Given the description of an element on the screen output the (x, y) to click on. 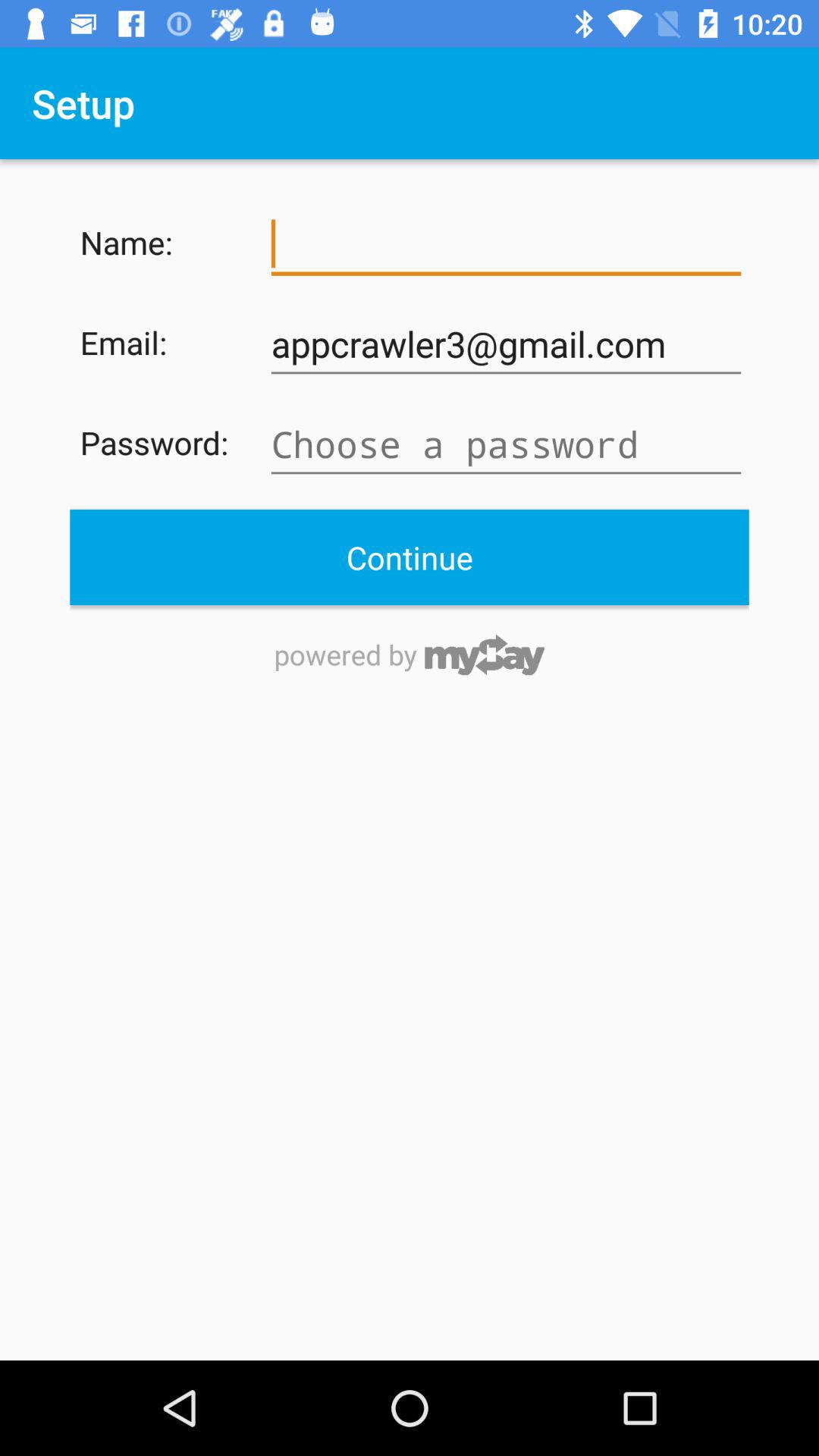
click icon above the appcrawler3@gmail.com item (506, 244)
